Given the description of an element on the screen output the (x, y) to click on. 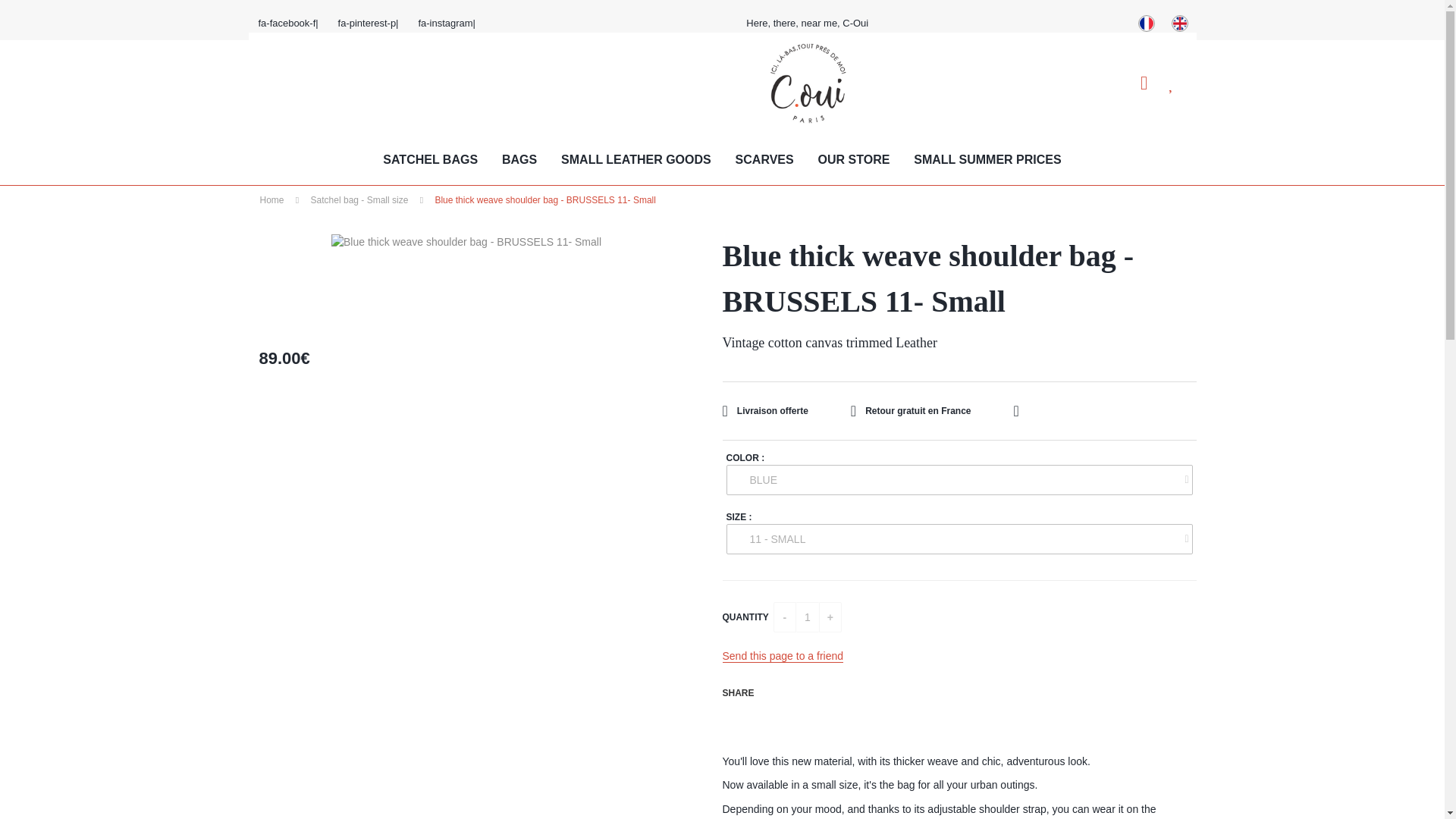
BAGS (519, 160)
SATCHEL BAGS (429, 160)
11 - SMALL (959, 539)
SATCHEL BAGS (429, 160)
BLUE (959, 480)
Home page (807, 83)
